Given the description of an element on the screen output the (x, y) to click on. 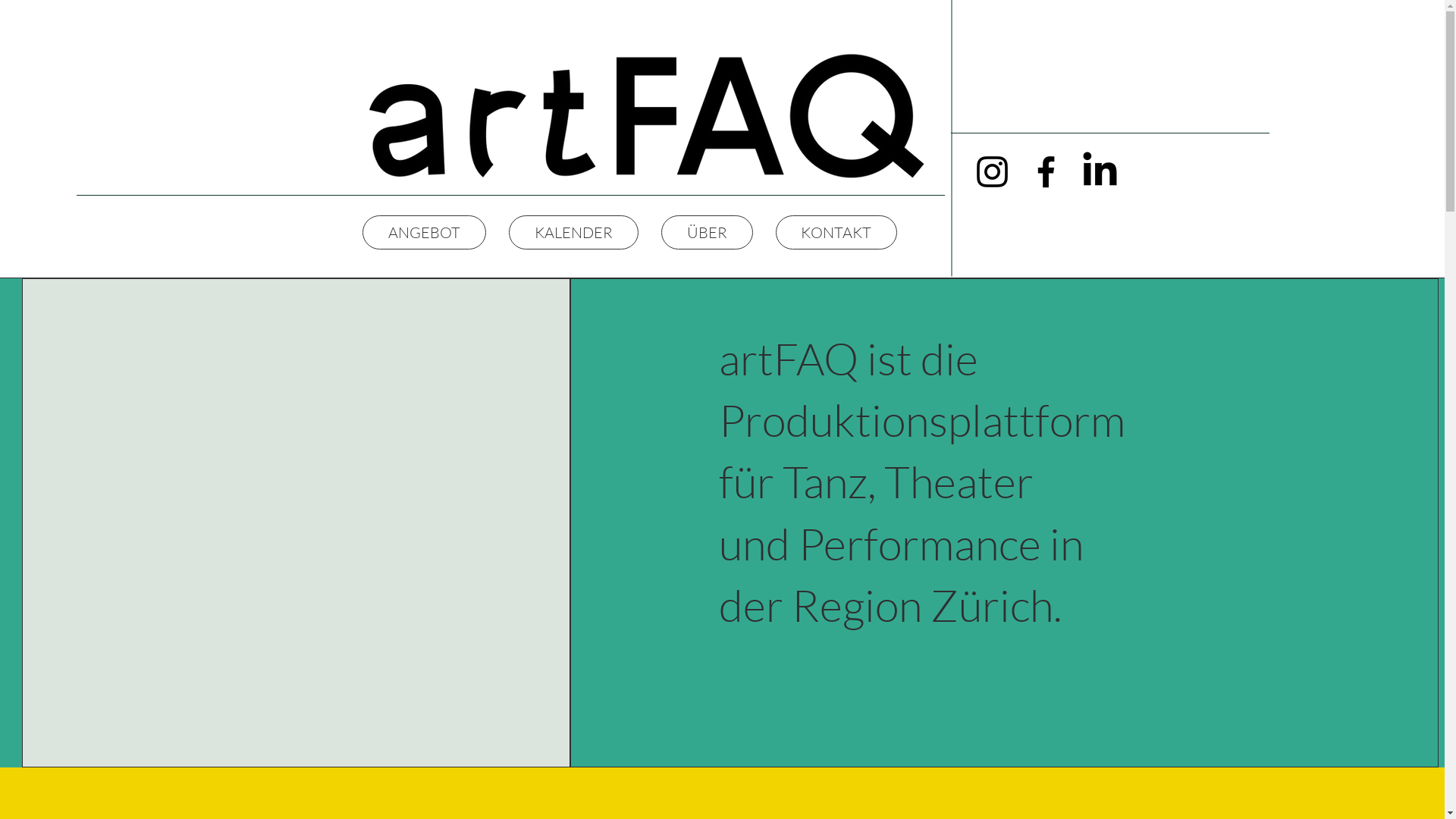
KONTAKT Element type: text (835, 232)
ANGEBOT Element type: text (424, 232)
180917_Logo.rgb.transparent.png Element type: hover (641, 115)
KALENDER Element type: text (572, 232)
